Given the description of an element on the screen output the (x, y) to click on. 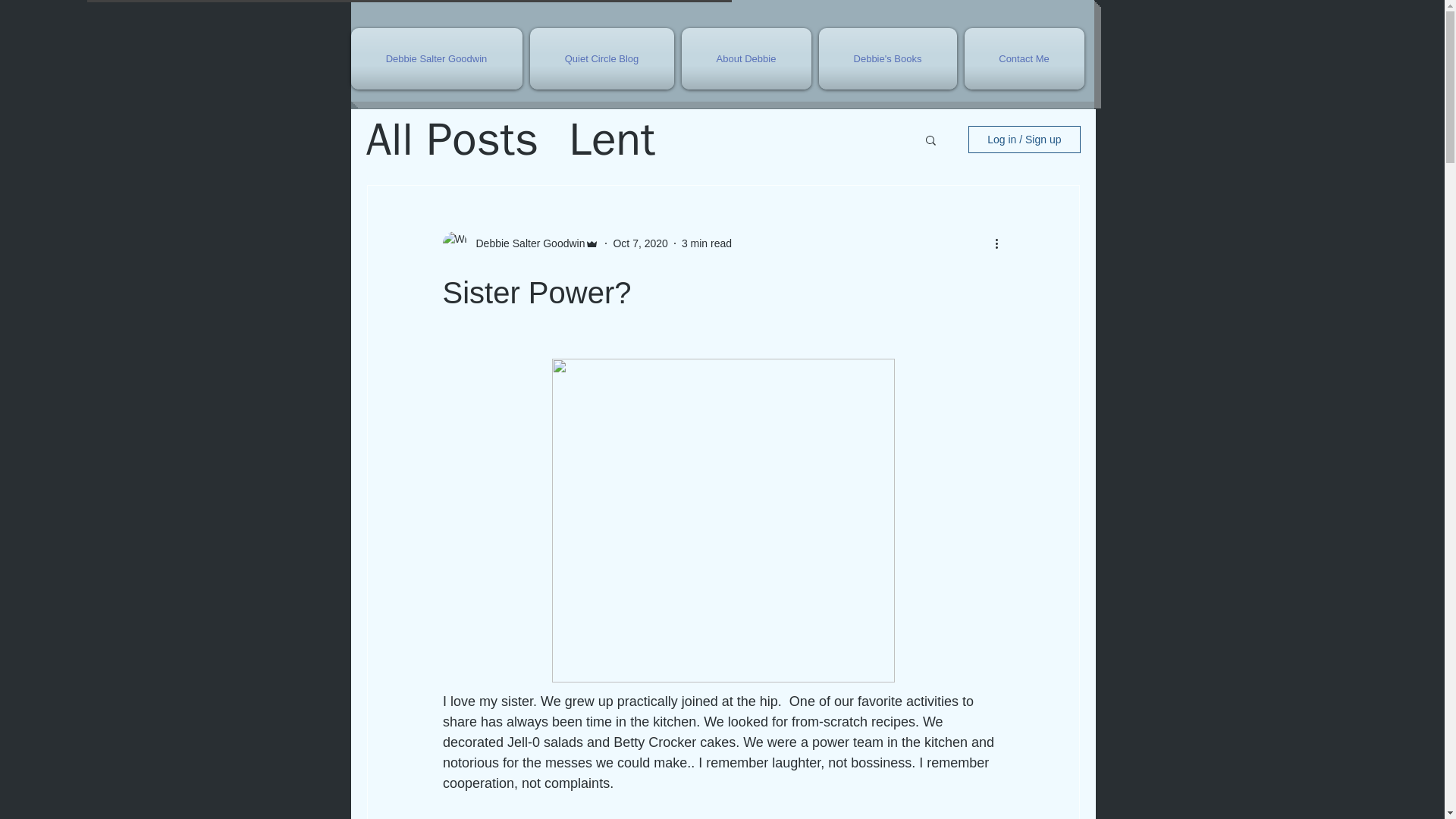
Lent (612, 139)
All Posts (451, 139)
Debbie's Books (886, 58)
Contact Me (1021, 58)
About Debbie (746, 58)
New Year (806, 199)
Debbie Salter Goodwin (526, 242)
Oct 7, 2020 (639, 242)
Quiet Circle Blog (601, 58)
Special Needs (538, 199)
